Given the description of an element on the screen output the (x, y) to click on. 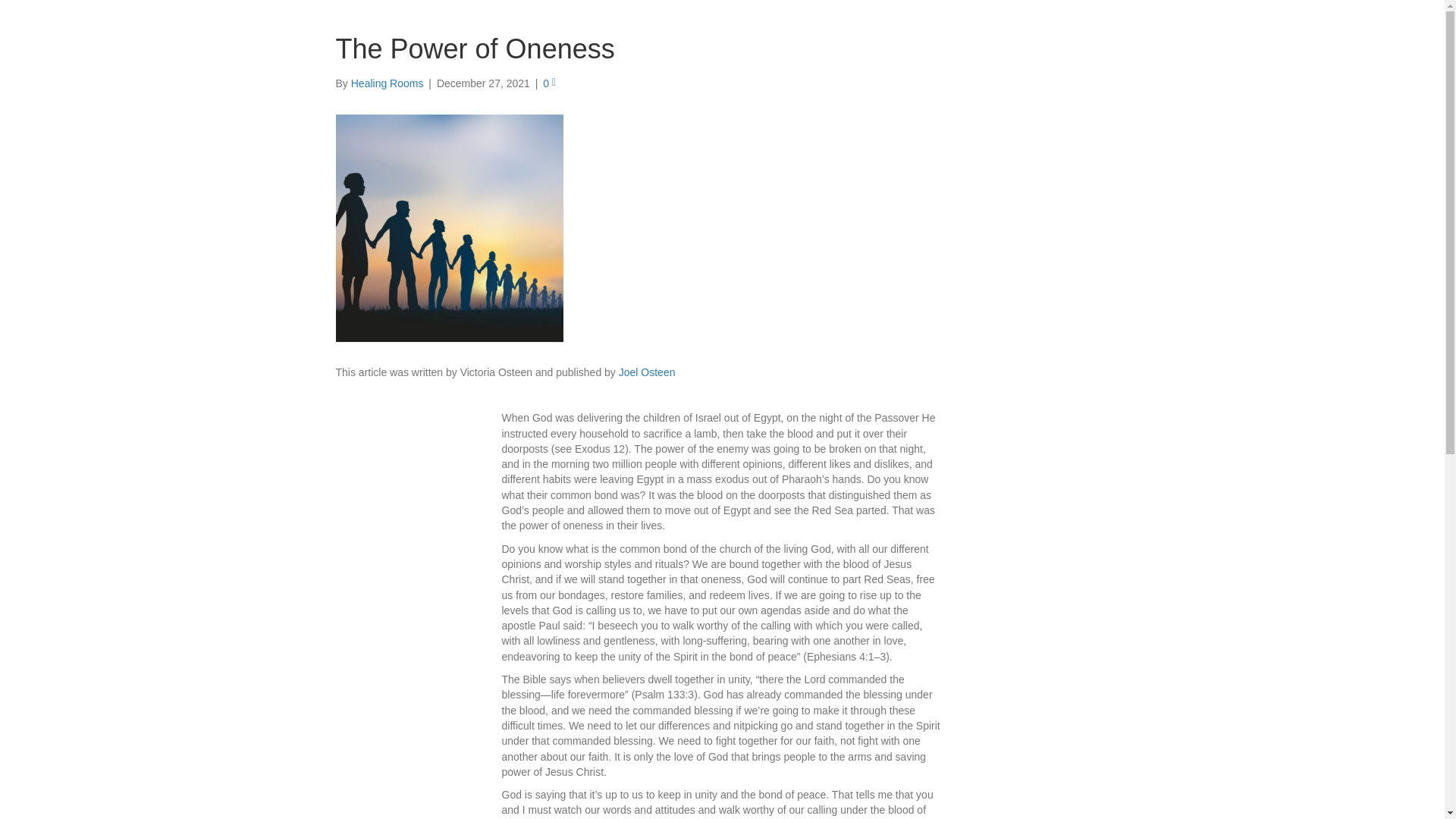
Healing Rooms (386, 82)
Joel Osteen (646, 372)
0 (549, 82)
